Given the description of an element on the screen output the (x, y) to click on. 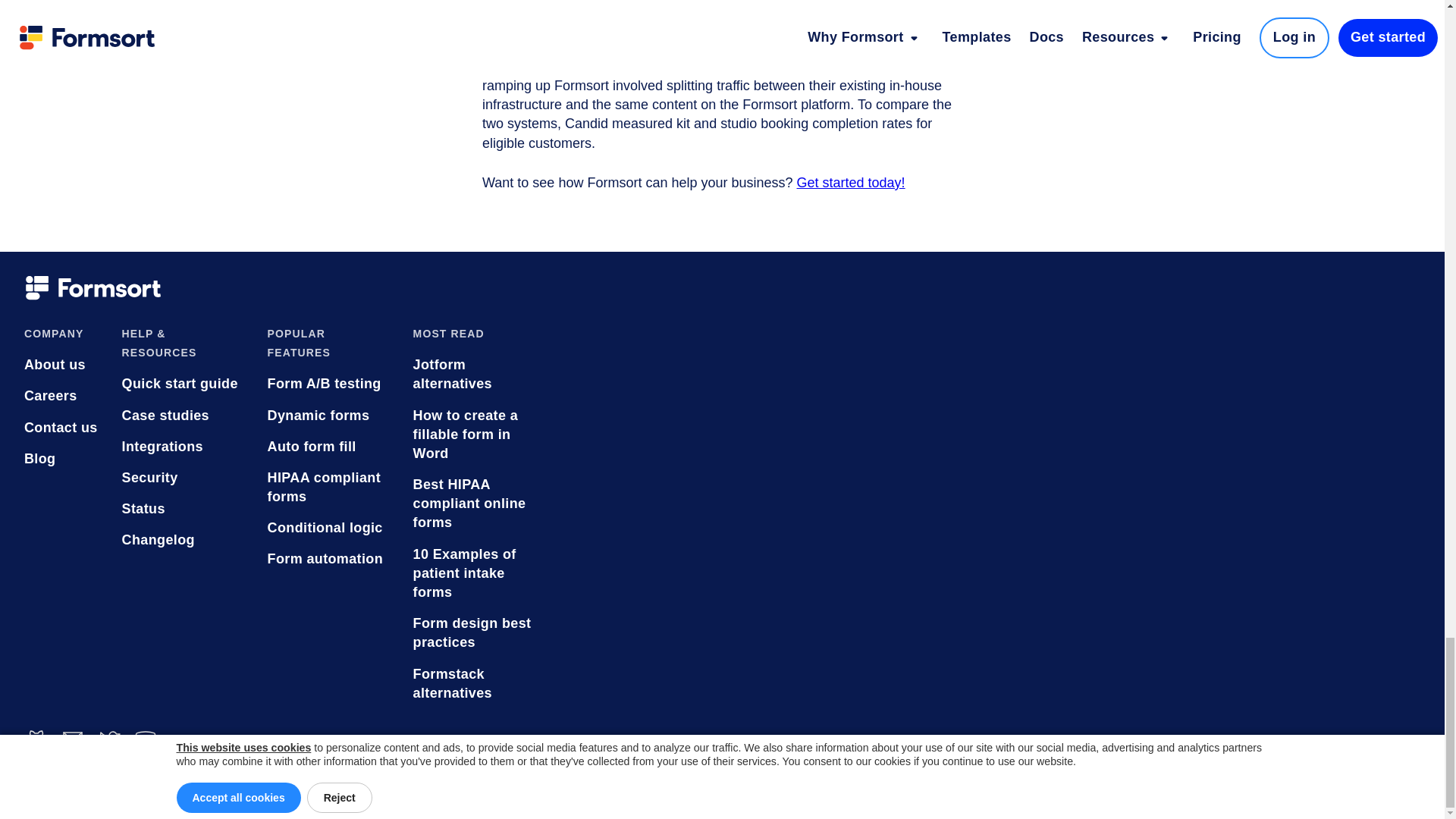
Status (182, 508)
Integrations (182, 446)
Careers (60, 395)
Jotform alternatives (473, 374)
Changelog (182, 539)
Form design best practices (473, 632)
Formstack alternatives (473, 683)
Security (182, 477)
Case studies (182, 415)
10 Examples of patient intake forms (473, 573)
